Given the description of an element on the screen output the (x, y) to click on. 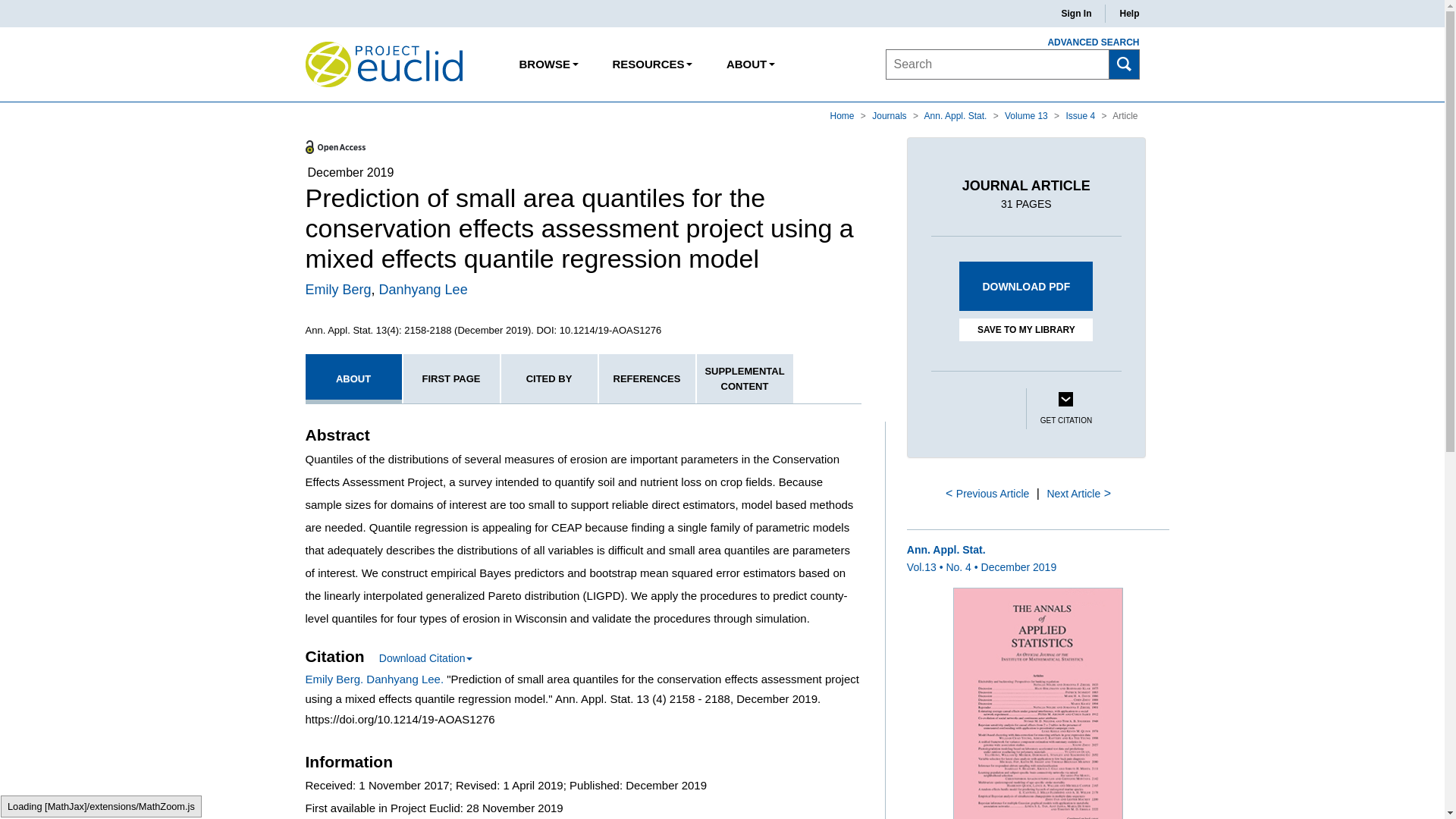
Journals (890, 115)
Home (843, 115)
BROWSE (549, 64)
Sign In (1075, 13)
CITED BY (548, 378)
ABOUT (352, 378)
Browse (549, 64)
ADVANCED SEARCH (1084, 42)
Ann. Appl. Stat. (957, 115)
Subscriptions and Access (651, 64)
